Given the description of an element on the screen output the (x, y) to click on. 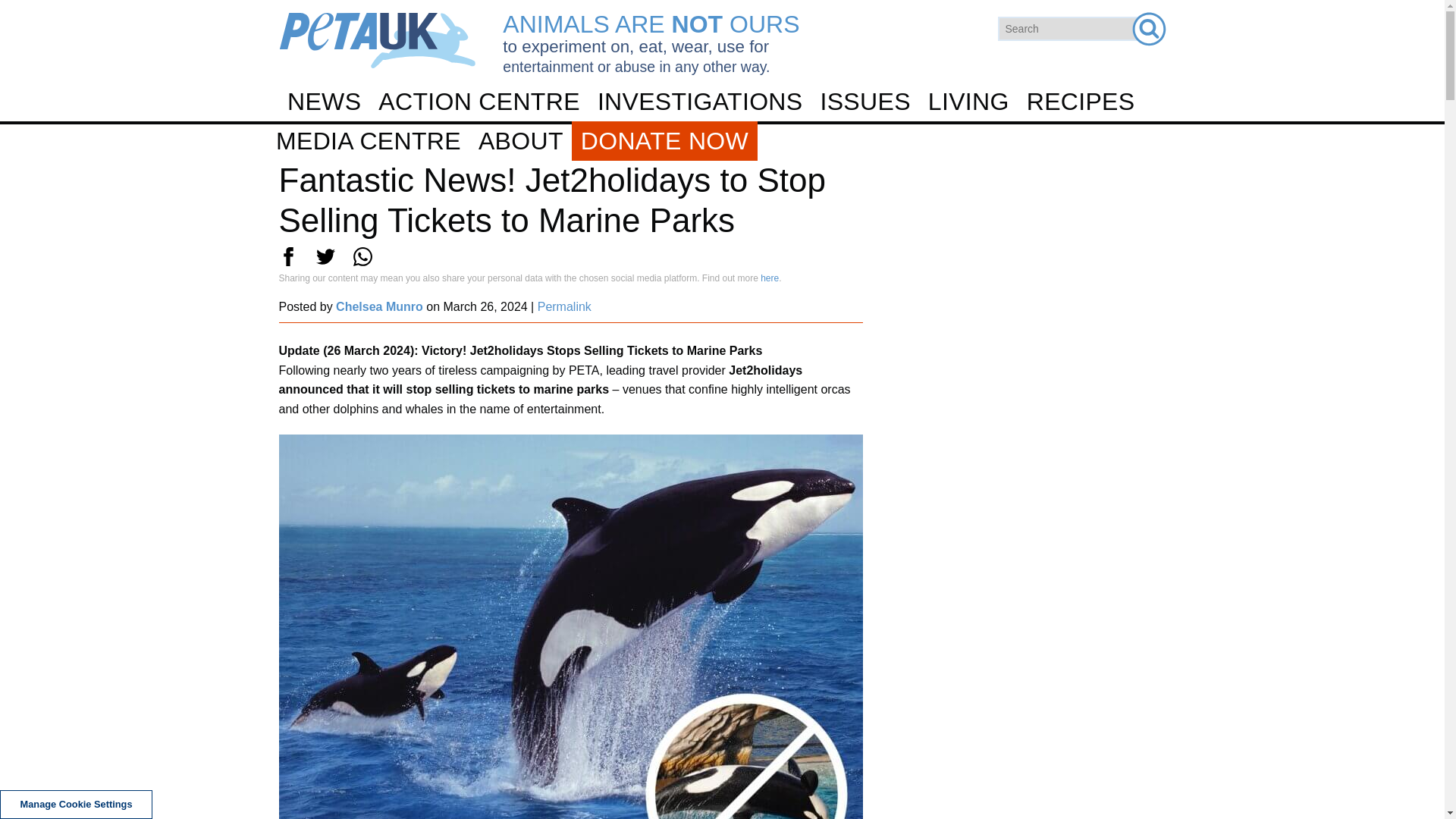
ACTIVIST RESOURCES (721, 225)
MEDICAL EXPERIMENTS (721, 271)
PETA UK (378, 40)
ACTION CENTRE (479, 101)
COSMETICS TESTING (721, 231)
WEAR (721, 265)
Submit (1148, 28)
Submit (1148, 28)
Posts by Chelsea Munro (379, 306)
ANIMALS IN EDUCATION AND TRAINING (721, 310)
